Given the description of an element on the screen output the (x, y) to click on. 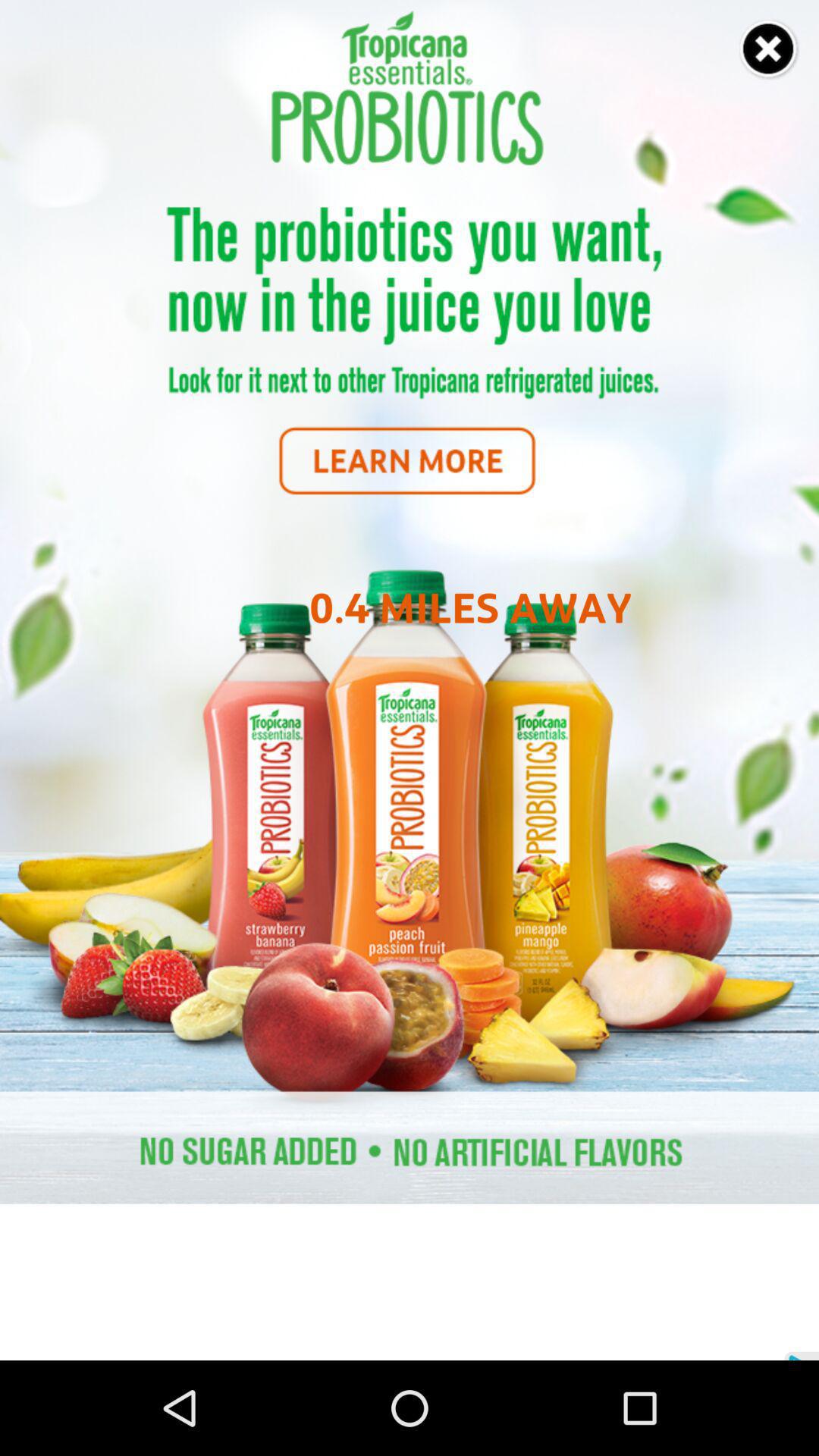
close (769, 49)
